Given the description of an element on the screen output the (x, y) to click on. 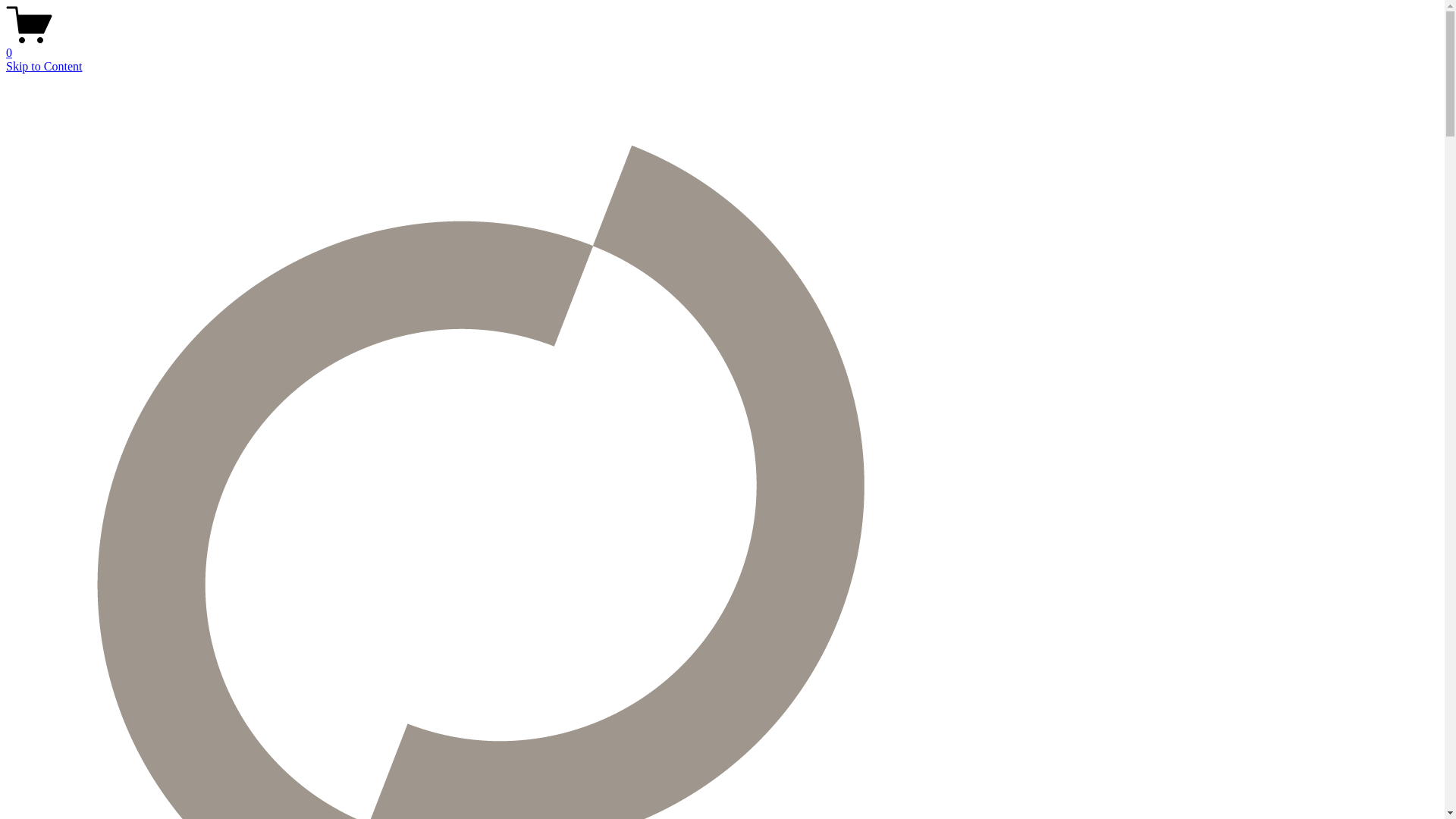
0 Element type: text (722, 45)
Skip to Content Element type: text (43, 65)
